Given the description of an element on the screen output the (x, y) to click on. 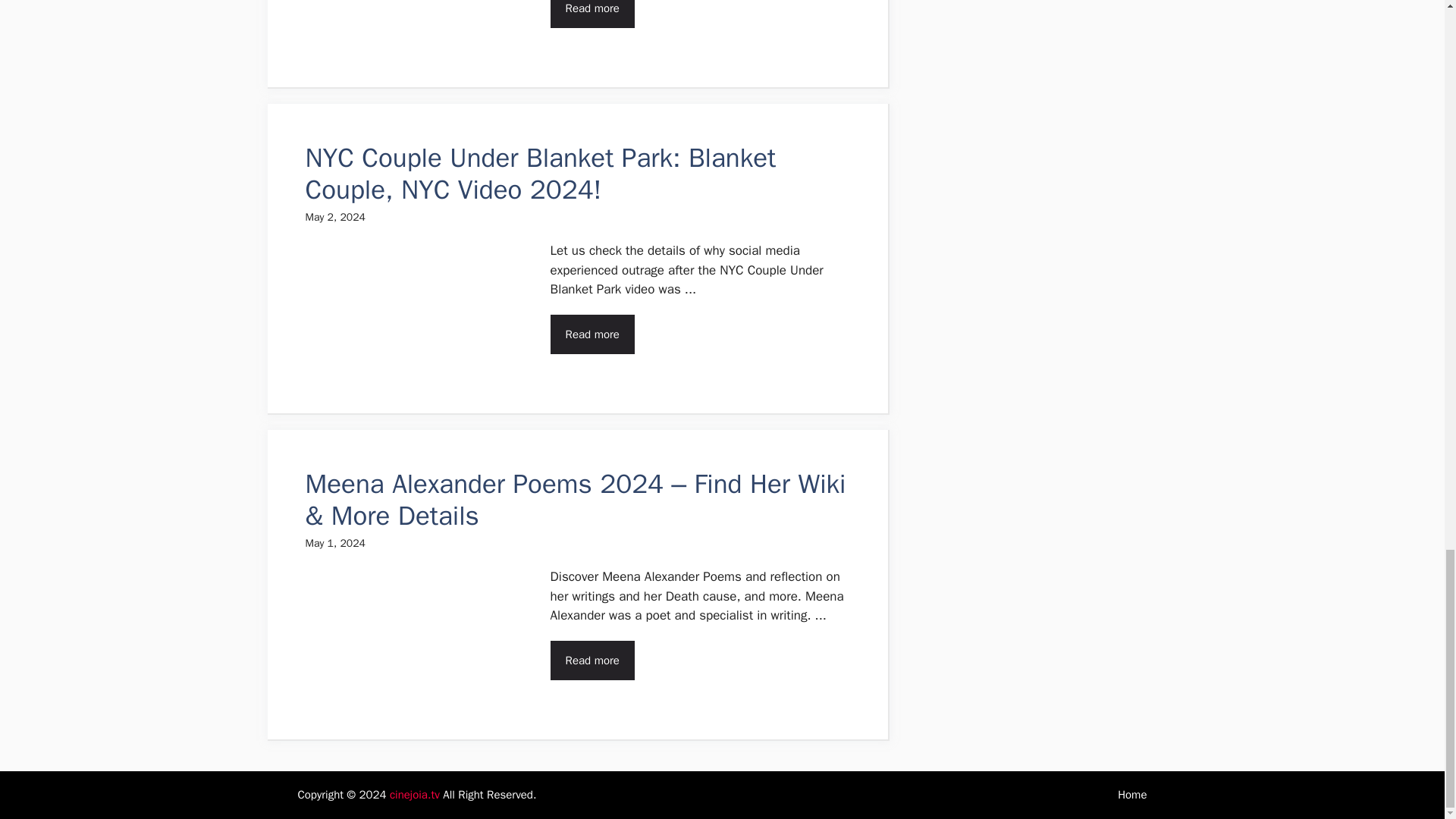
Home (1132, 794)
Read more (592, 334)
cinejoia.tv (414, 794)
Read more (592, 660)
Read more (592, 14)
